Given the description of an element on the screen output the (x, y) to click on. 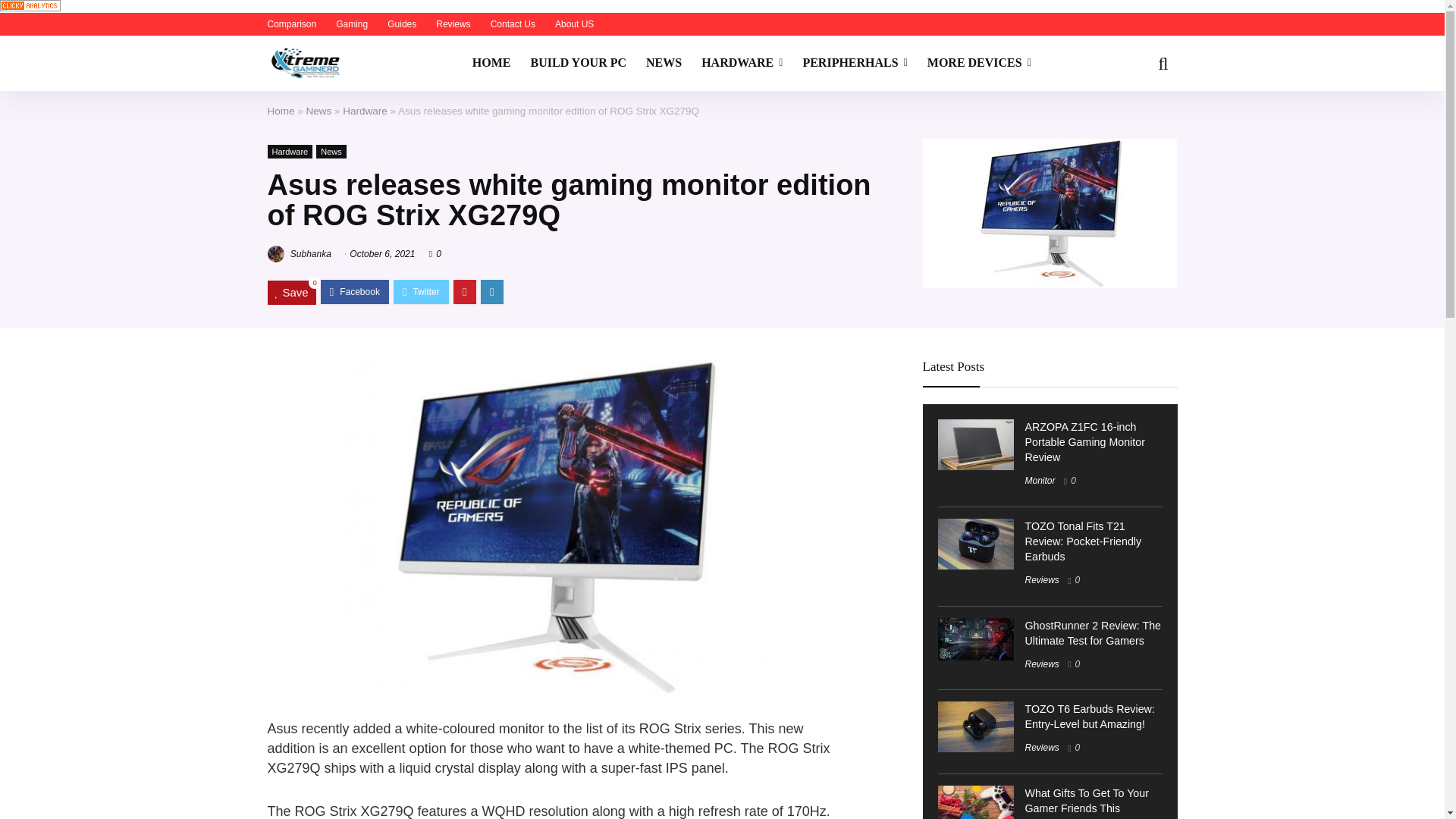
View all posts in News (330, 151)
Guides (401, 23)
HARDWARE (741, 63)
Reviews (452, 23)
MORE DEVICES (979, 63)
Comparison (290, 23)
View all posts in Hardware (289, 151)
Privacy-friendly Web Analytics (30, 6)
About US (574, 23)
Contact Us (512, 23)
PERIPHERHALS (854, 63)
Gaming (352, 23)
HOME (492, 63)
NEWS (663, 63)
BUILD YOUR PC (577, 63)
